Given the description of an element on the screen output the (x, y) to click on. 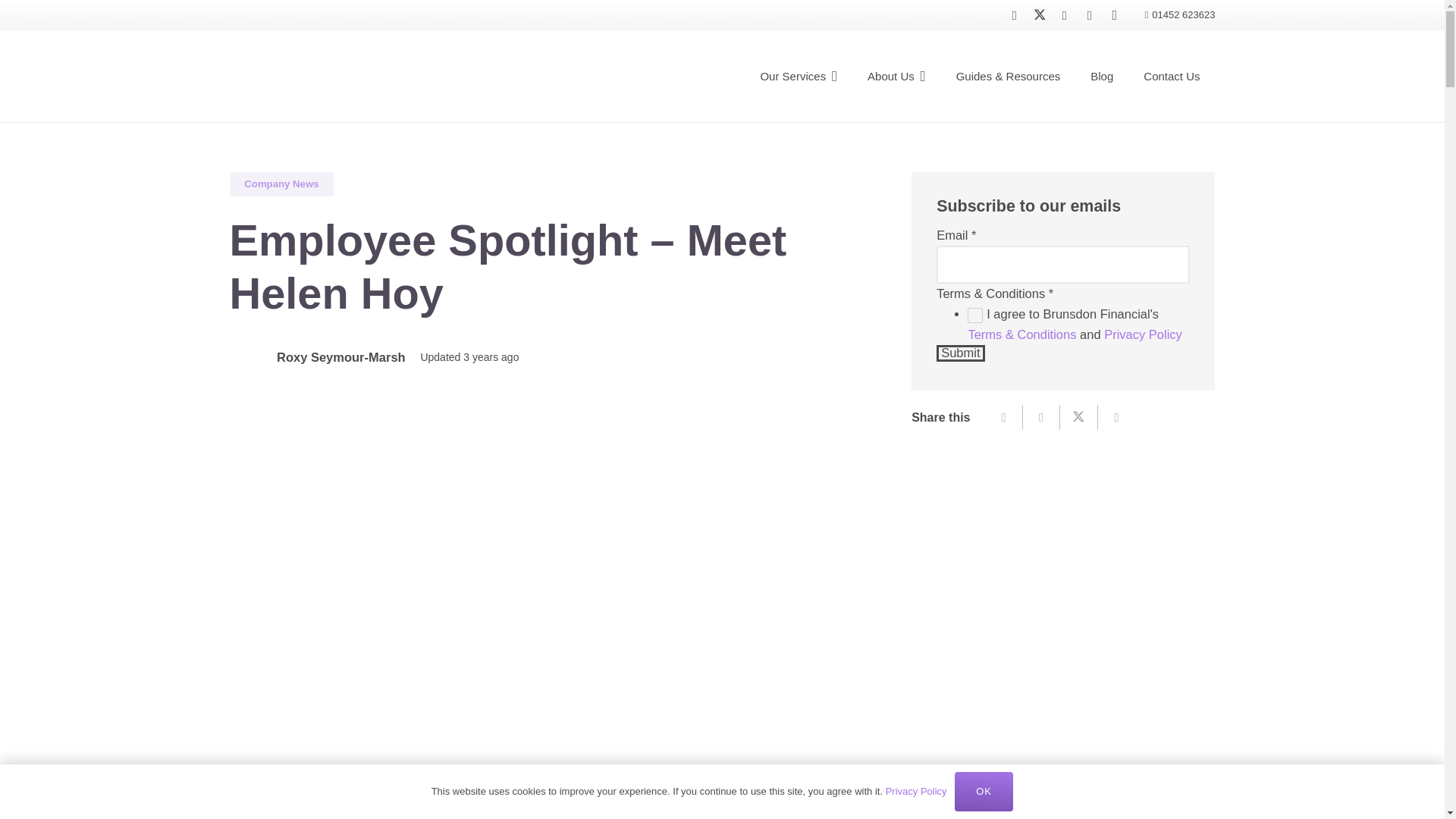
Email this (1004, 416)
YouTube (1089, 15)
About Us (895, 76)
Company News (280, 183)
Tweet this (1078, 416)
Privacy Policy (1142, 334)
Roxy Seymour-Marsh (341, 357)
Submit (960, 352)
Our Services (797, 76)
Contact Us (1171, 76)
